Given the description of an element on the screen output the (x, y) to click on. 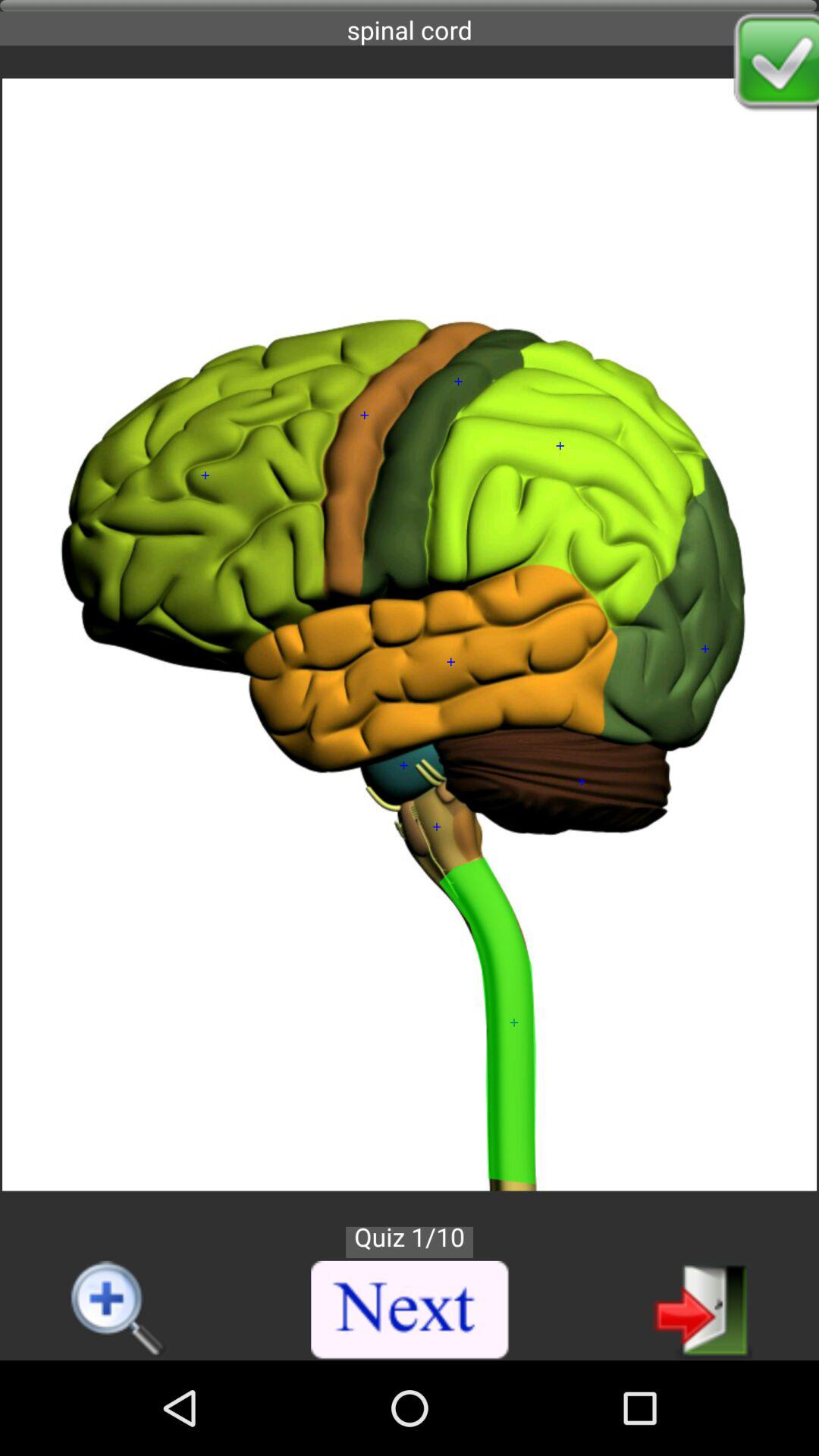
zoom in (118, 1310)
